Given the description of an element on the screen output the (x, y) to click on. 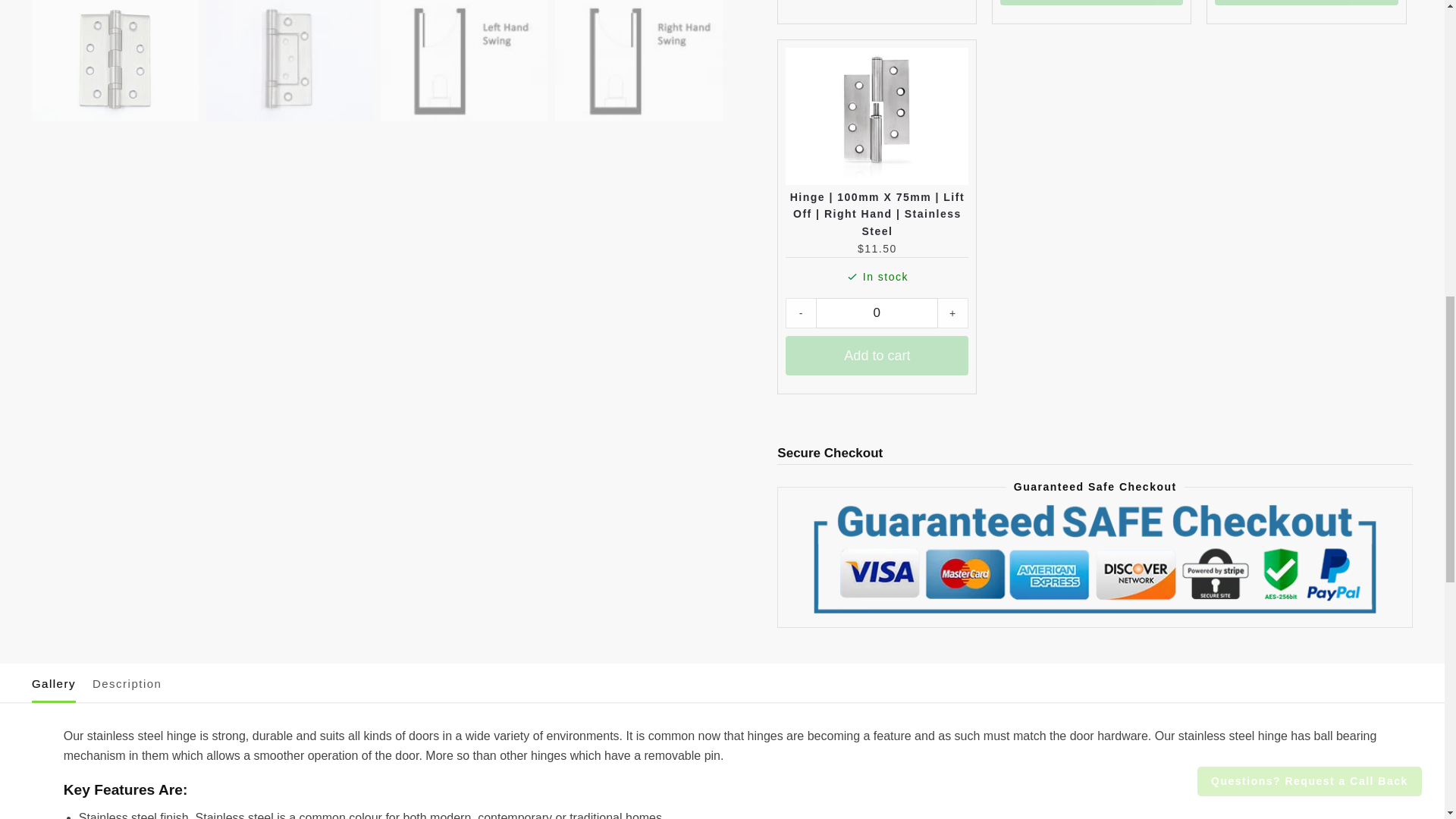
right-hand-swing-image (638, 61)
Stainless Hinge (115, 60)
Stainless Hirline Hinge (289, 61)
0 (876, 313)
left-hand-swing-image (463, 61)
